Given the description of an element on the screen output the (x, y) to click on. 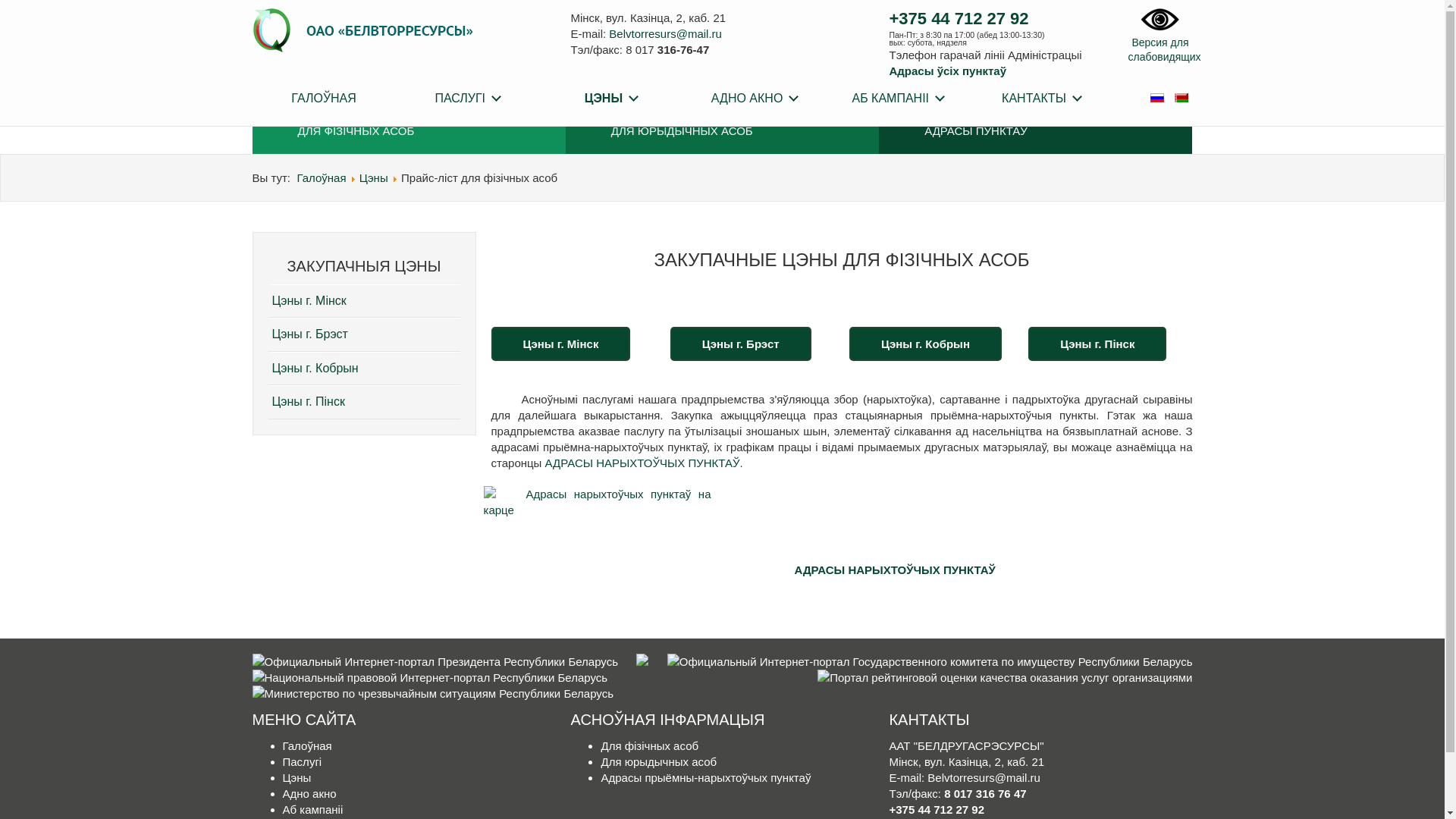
Belvtorresurs@mail.ru Element type: text (664, 33)
